Given the description of an element on the screen output the (x, y) to click on. 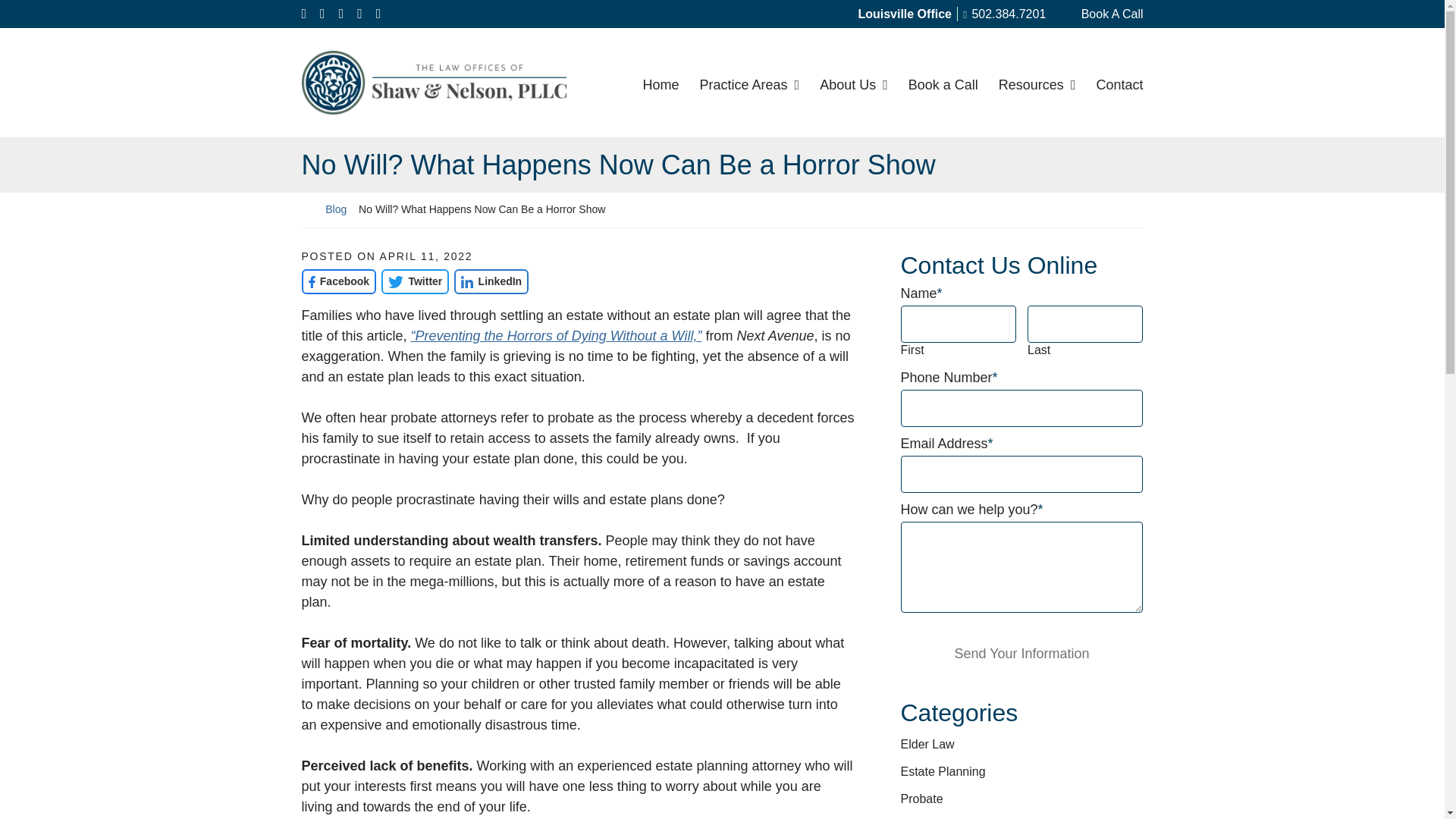
Twitter (414, 281)
Contact (1120, 82)
Breadcrumb trail (721, 209)
Return home (307, 209)
Book a Call (942, 82)
Return home (434, 82)
Practice Areas (749, 82)
Elder Law (928, 744)
Facebook (339, 281)
